Given the description of an element on the screen output the (x, y) to click on. 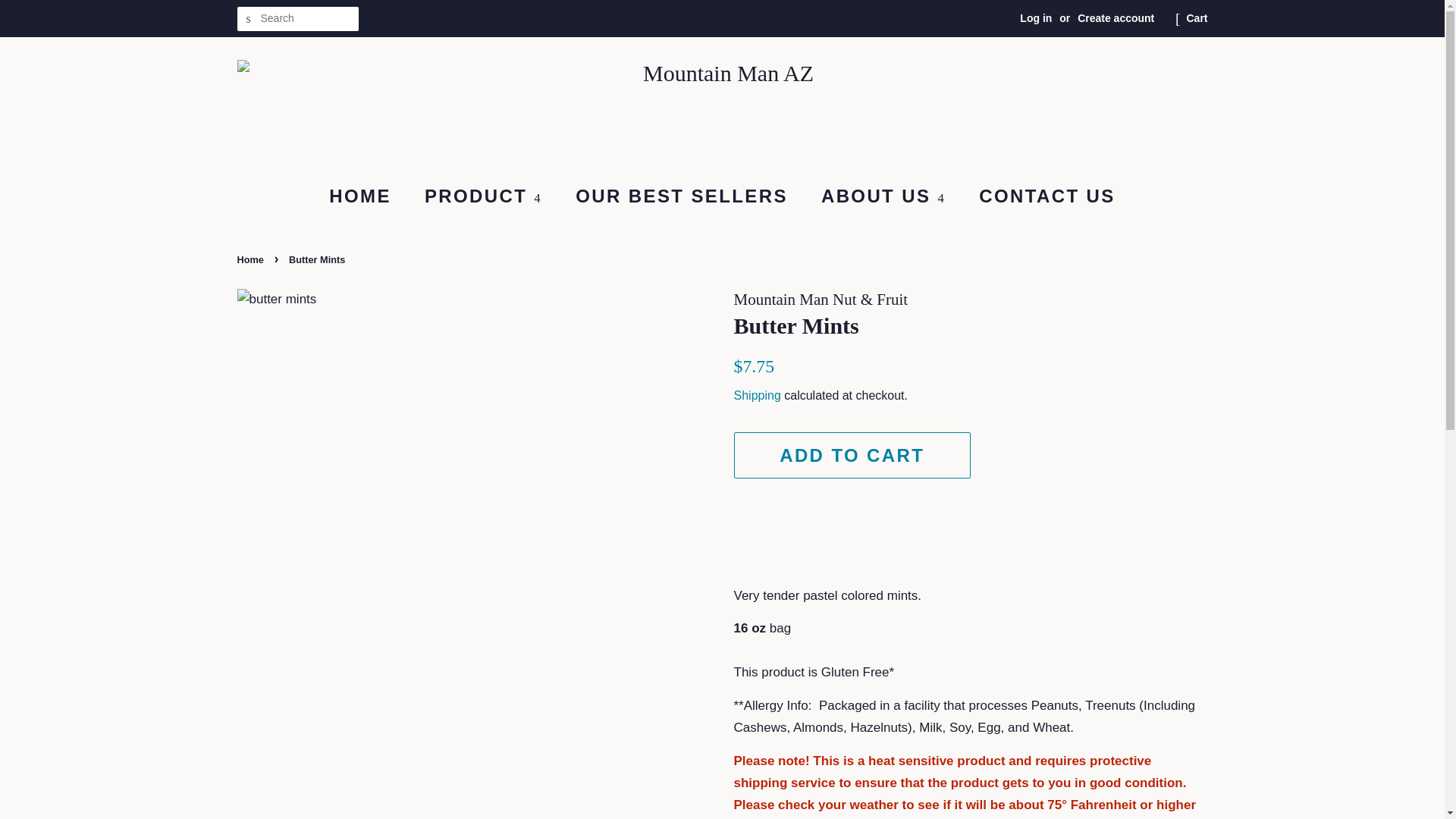
PRODUCT (485, 196)
Back to the frontpage (250, 259)
Cart (1196, 18)
Create account (1115, 18)
HOME (367, 196)
SEARCH (247, 18)
Log in (1035, 18)
